Given the description of an element on the screen output the (x, y) to click on. 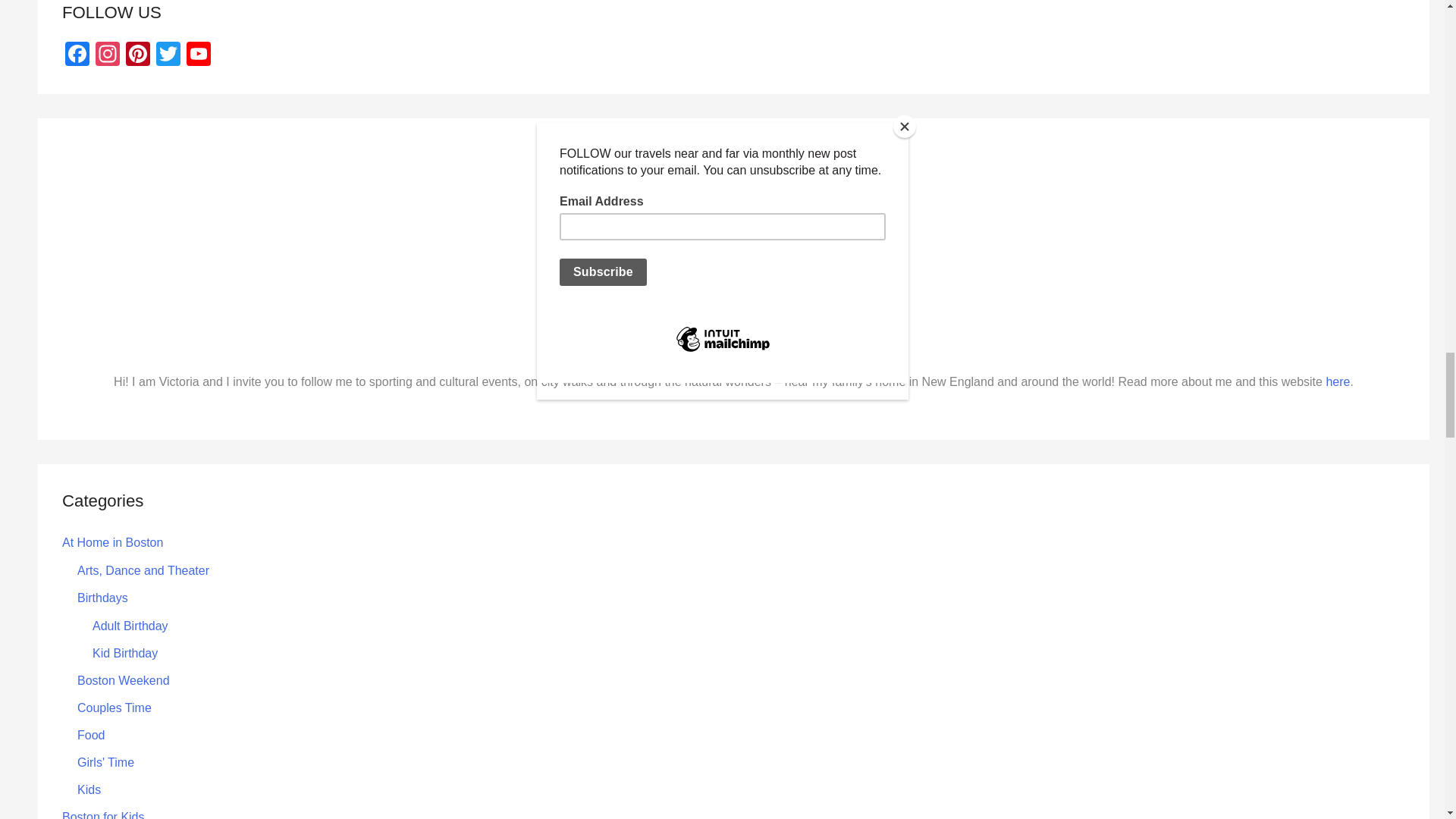
Facebook (77, 55)
